Given the description of an element on the screen output the (x, y) to click on. 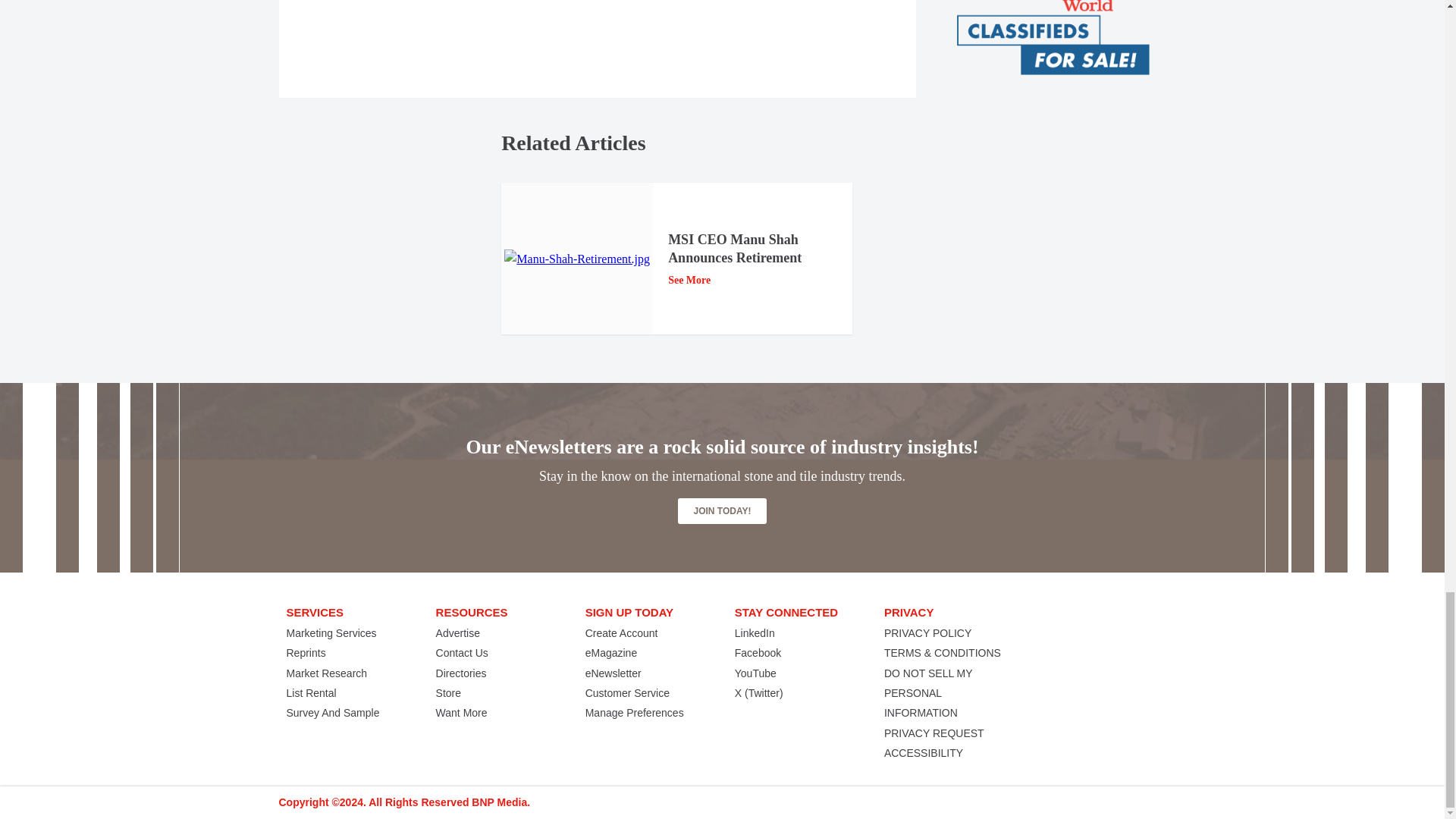
Manu-Shah-Retirement.jpg (576, 259)
